Given the description of an element on the screen output the (x, y) to click on. 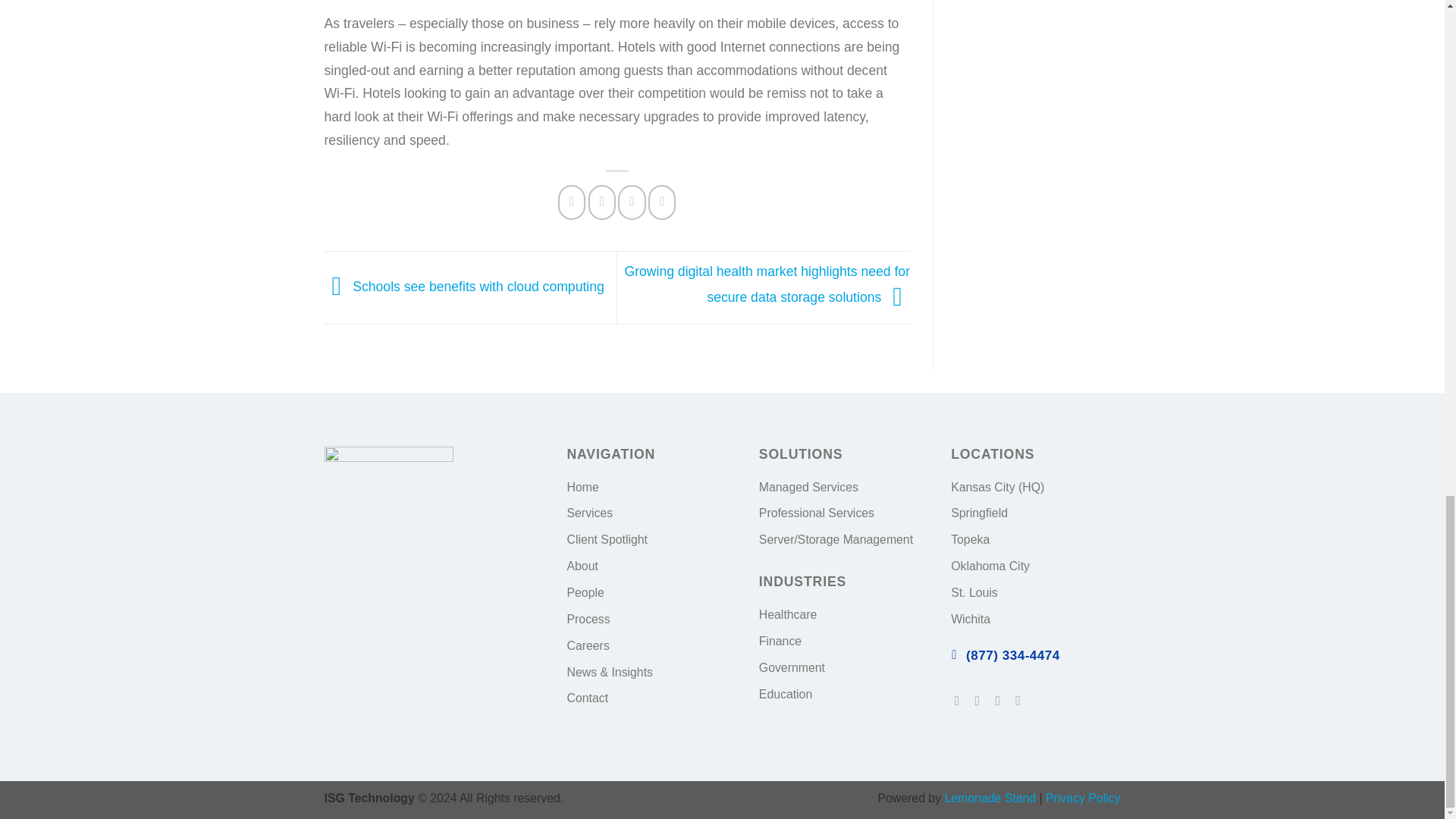
Share on Facebook (571, 202)
Follow on LinkedIn (1001, 700)
Email to a Friend (631, 202)
Follow on Facebook (961, 700)
Follow on YouTube (1021, 700)
Share on Twitter (601, 202)
Share on LinkedIn (661, 202)
Follow on Twitter (981, 700)
